Given the description of an element on the screen output the (x, y) to click on. 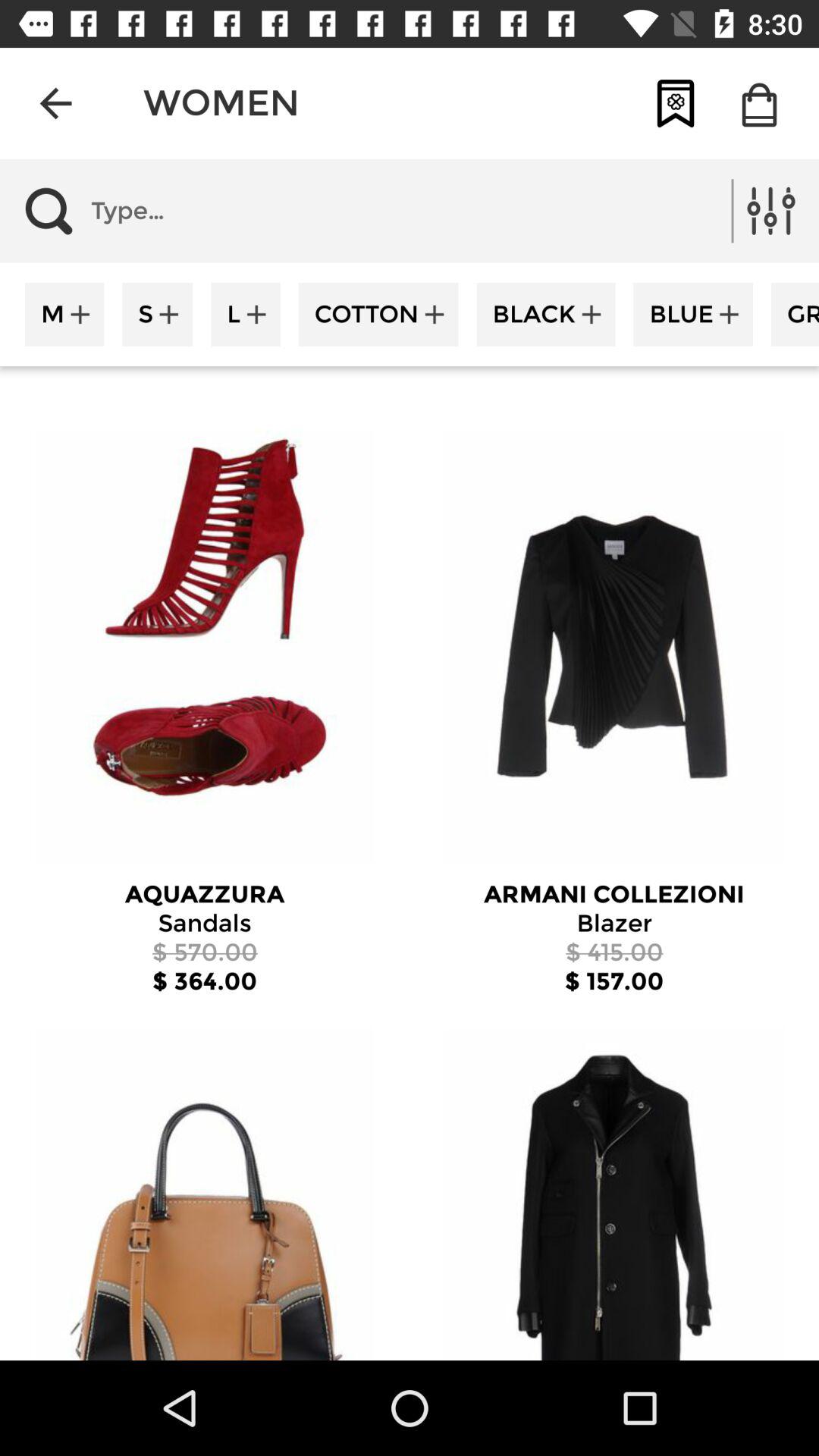
jump until l icon (245, 314)
